Given the description of an element on the screen output the (x, y) to click on. 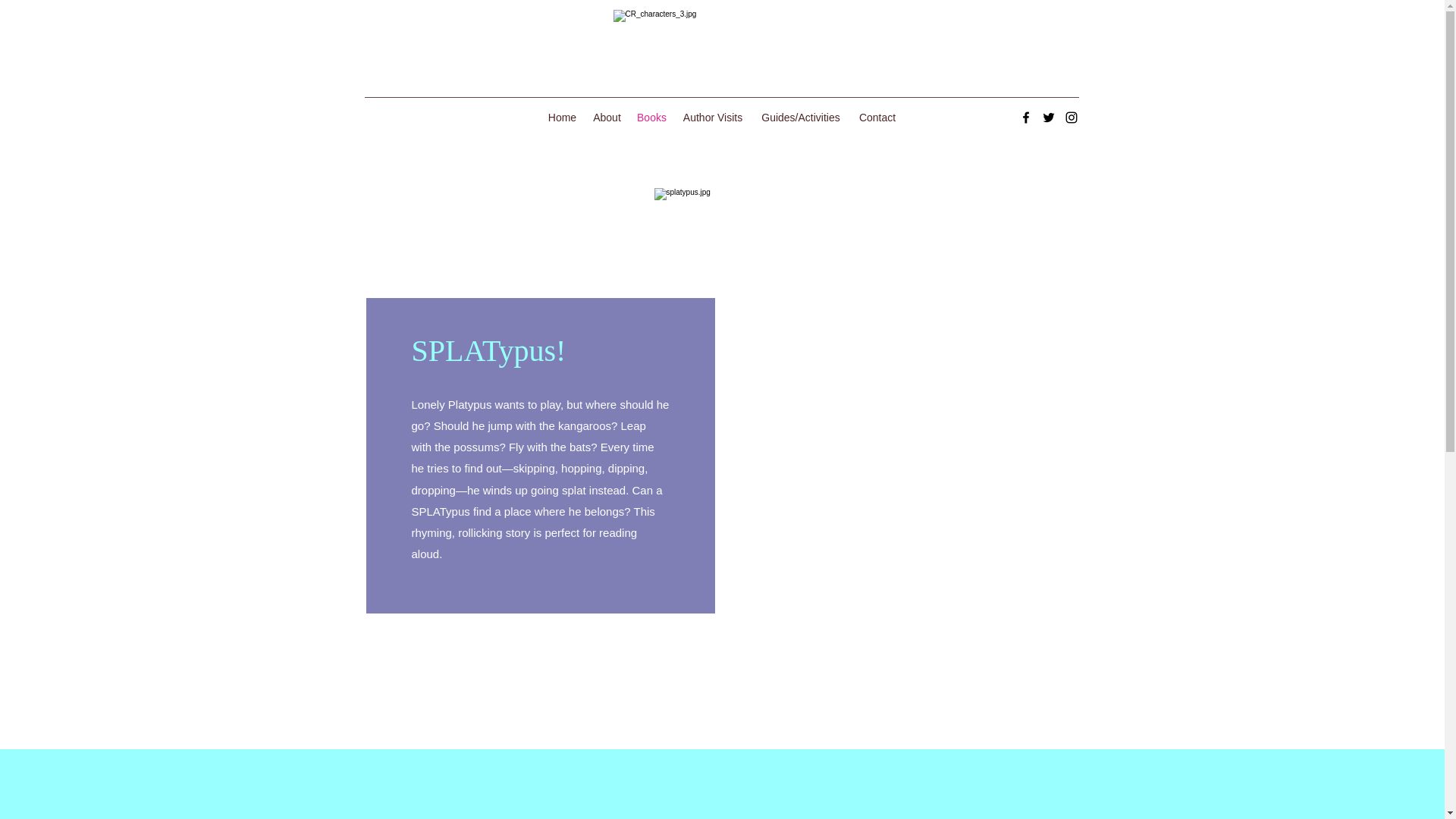
Author Visits (712, 117)
Home (562, 117)
Contact (877, 117)
Books (651, 117)
About (606, 117)
